Given the description of an element on the screen output the (x, y) to click on. 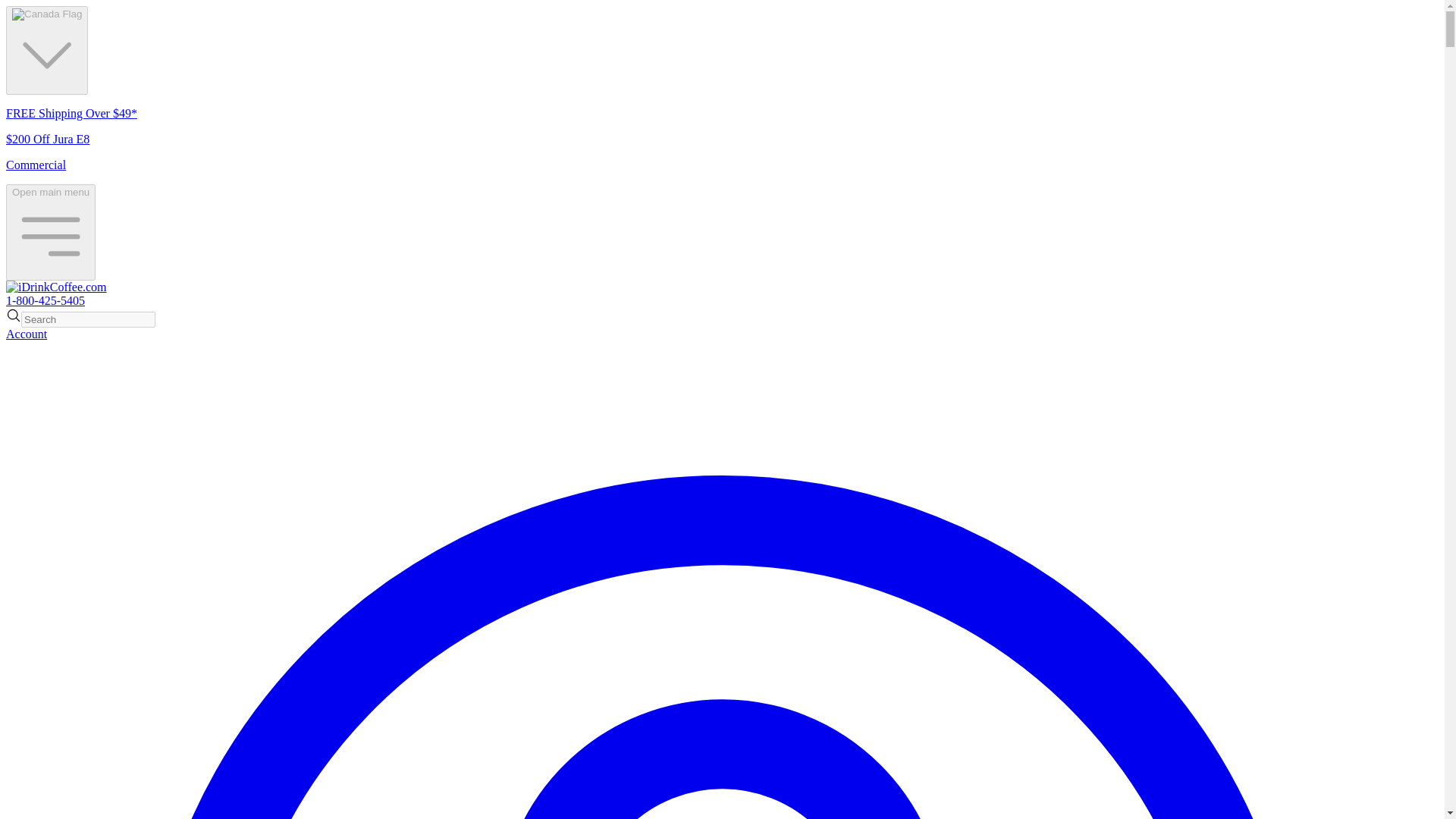
1-800-425-5405 (44, 300)
Open main menu (50, 232)
